Given the description of an element on the screen output the (x, y) to click on. 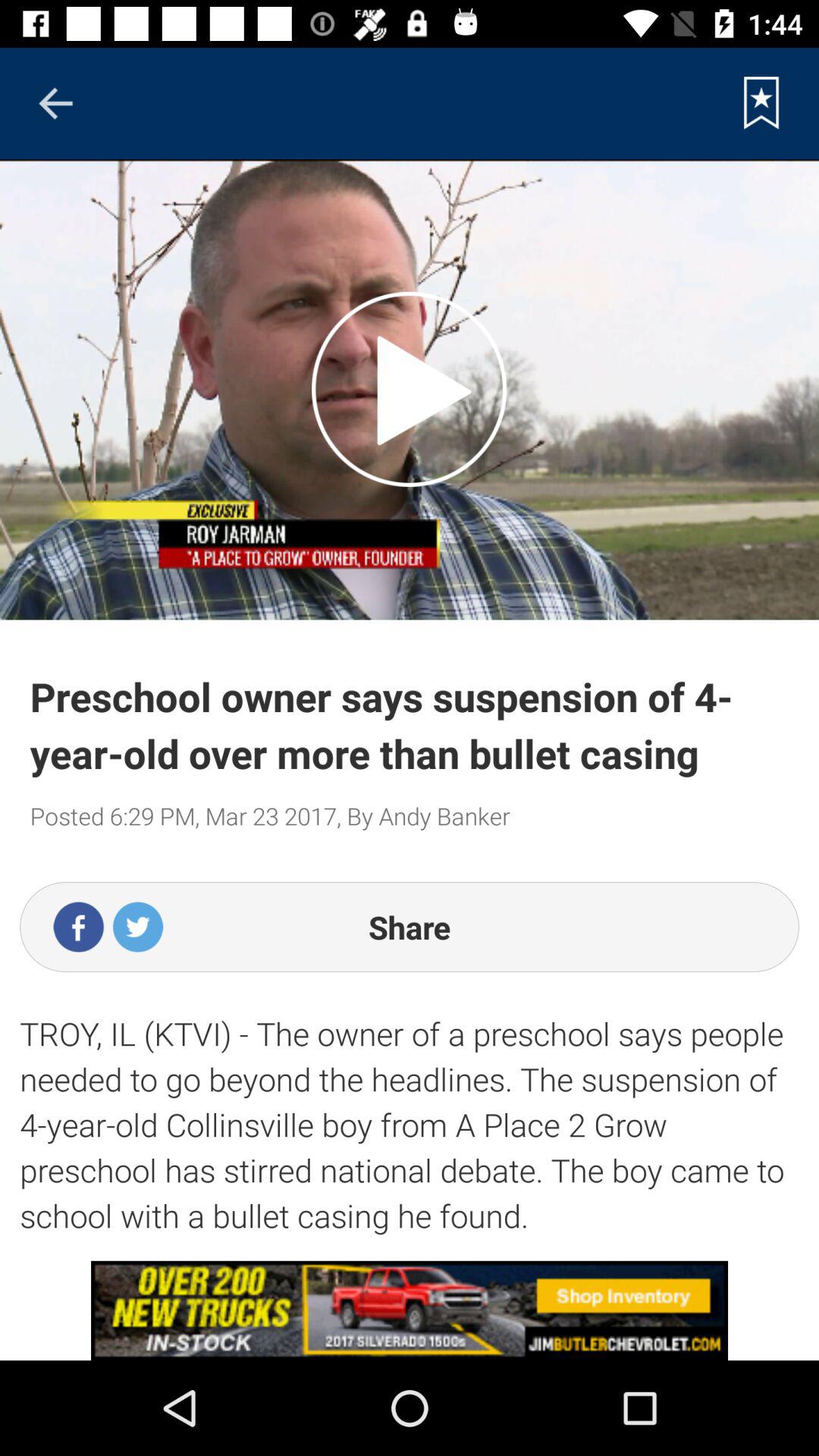
to goto previous page (55, 103)
